Given the description of an element on the screen output the (x, y) to click on. 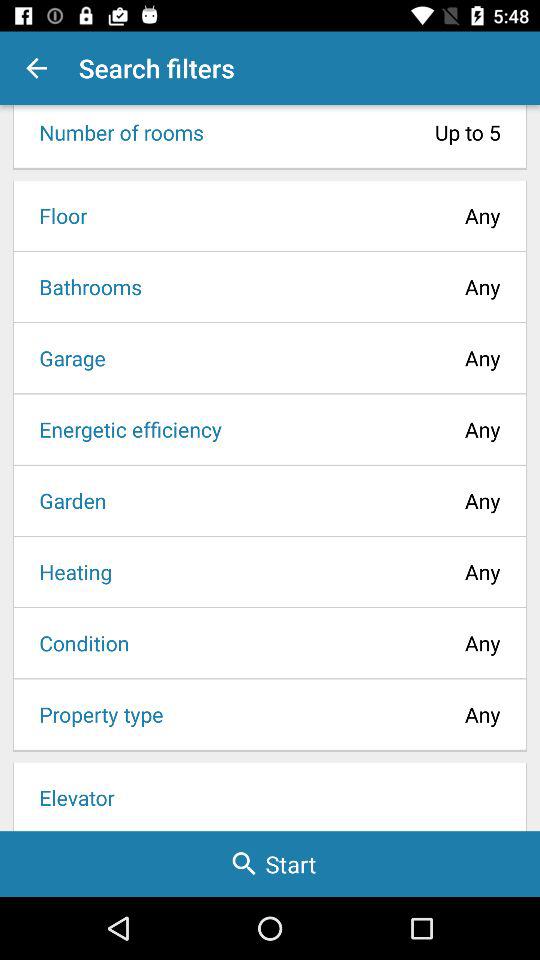
launch the icon next to the search filters item (36, 68)
